Given the description of an element on the screen output the (x, y) to click on. 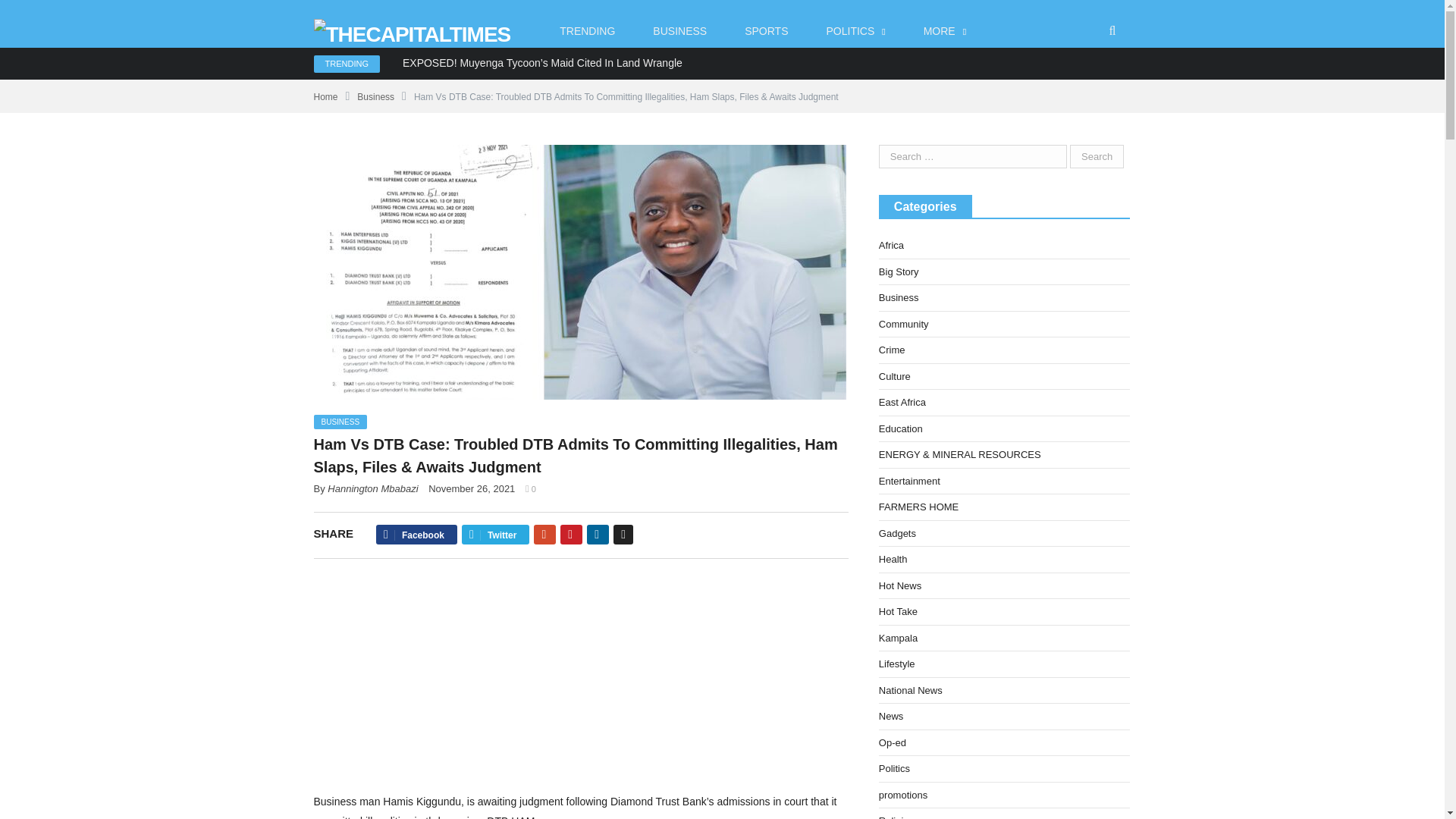
BUSINESS (679, 31)
Search (1097, 156)
Search (1097, 156)
POLITICS (855, 31)
SPORTS (765, 31)
MORE (944, 31)
Thecapitaltimes (412, 30)
TRENDING (586, 31)
